Given the description of an element on the screen output the (x, y) to click on. 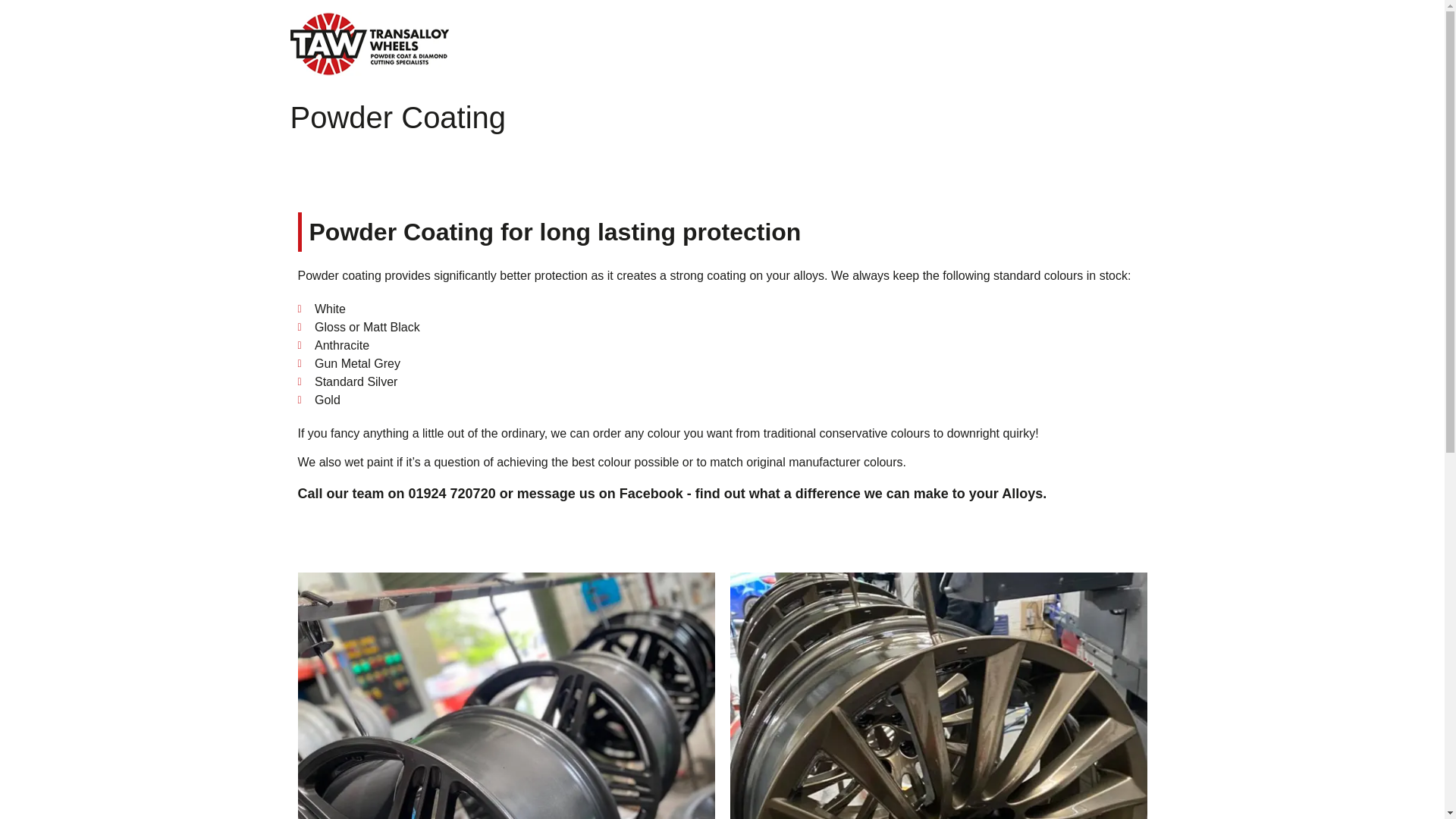
01924 720720 (452, 493)
